Given the description of an element on the screen output the (x, y) to click on. 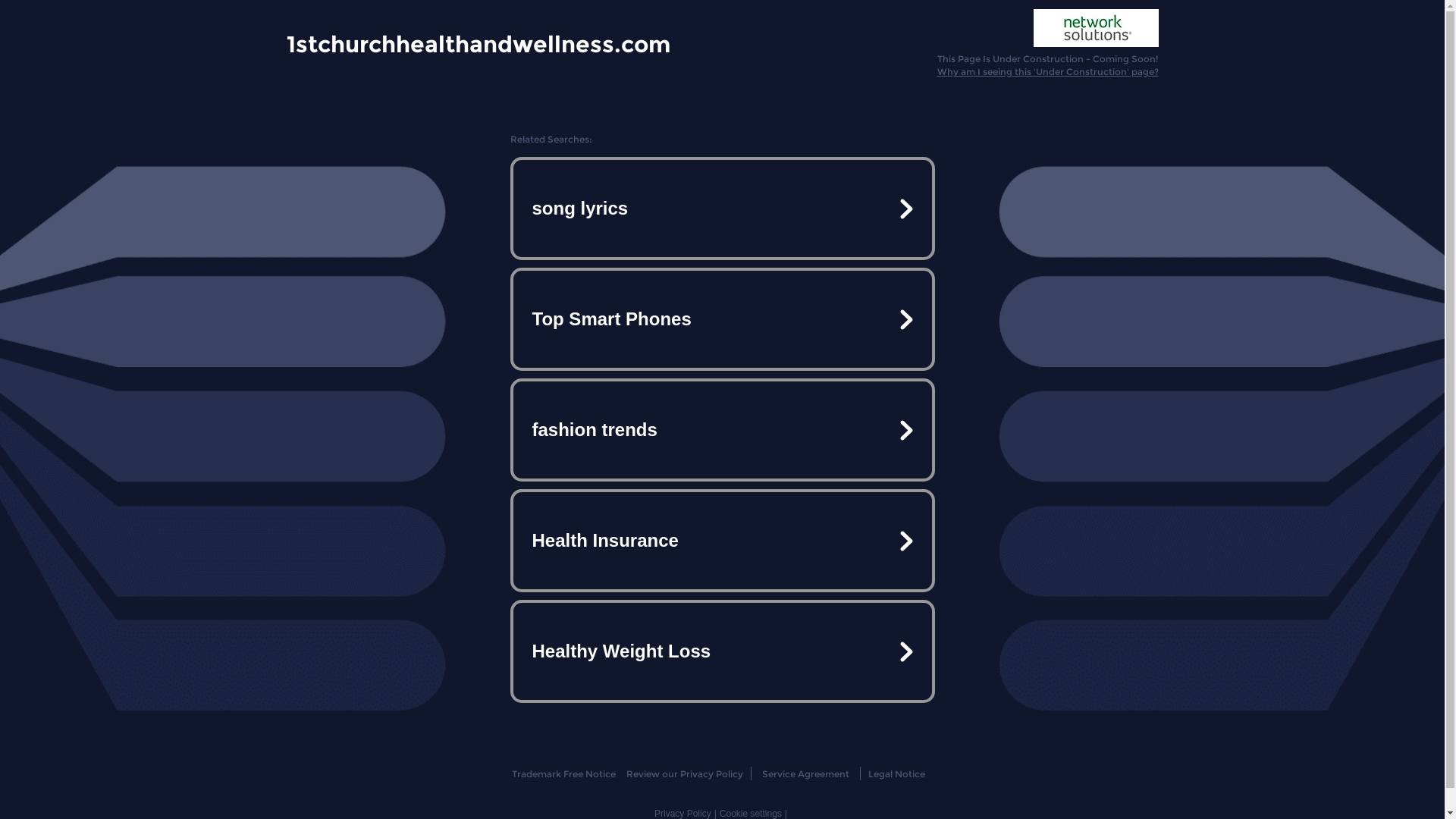
Top Smart Phones Element type: text (721, 318)
Healthy Weight Loss Element type: text (721, 650)
fashion trends Element type: text (721, 429)
Why am I seeing this 'Under Construction' page? Element type: text (1047, 71)
1stchurchhealthandwellness.com Element type: text (478, 43)
Review our Privacy Policy Element type: text (684, 773)
Legal Notice Element type: text (896, 773)
Service Agreement Element type: text (805, 773)
song lyrics Element type: text (721, 208)
Trademark Free Notice Element type: text (563, 773)
Health Insurance Element type: text (721, 540)
